Given the description of an element on the screen output the (x, y) to click on. 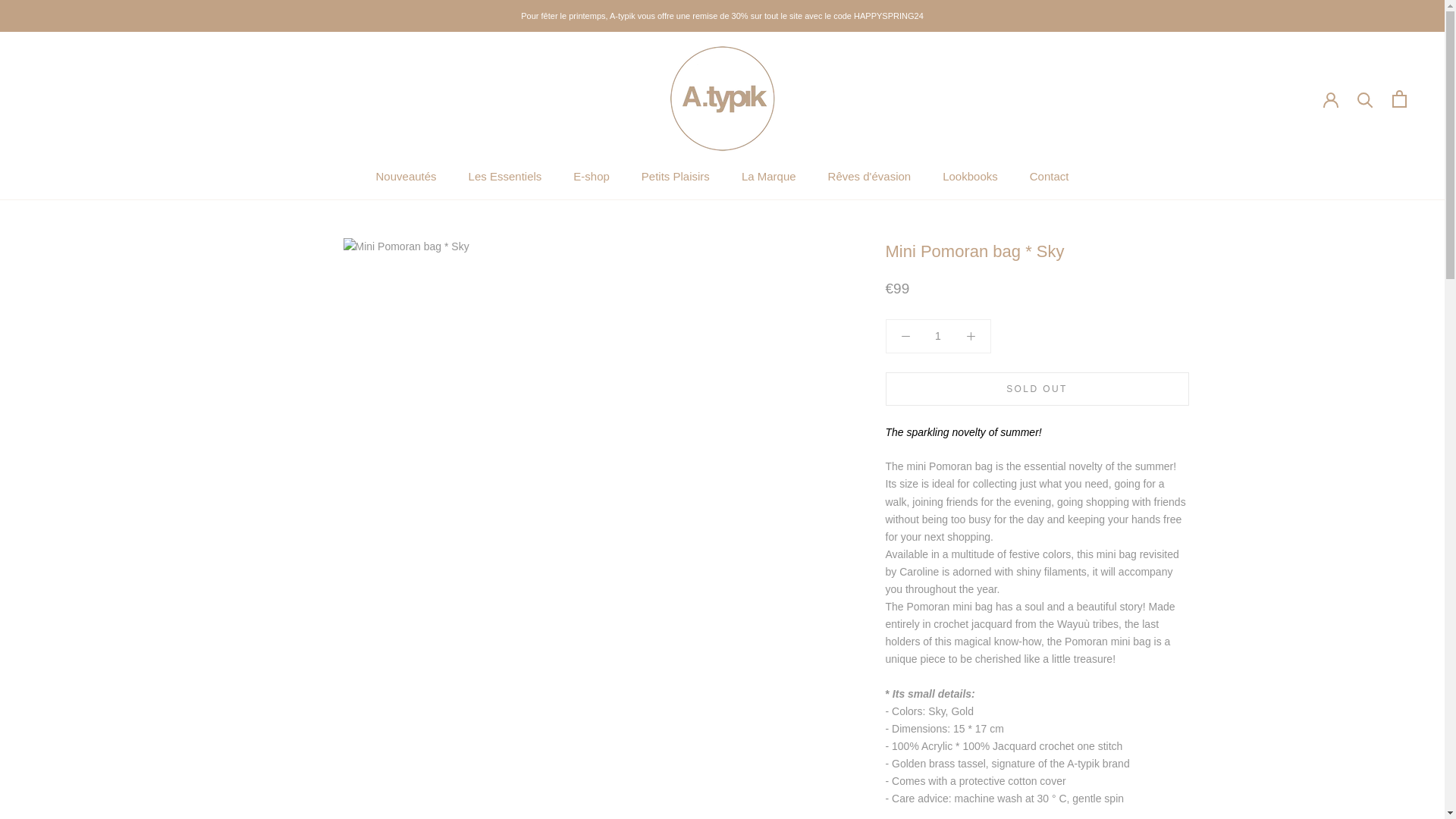
1 (938, 336)
